Given the description of an element on the screen output the (x, y) to click on. 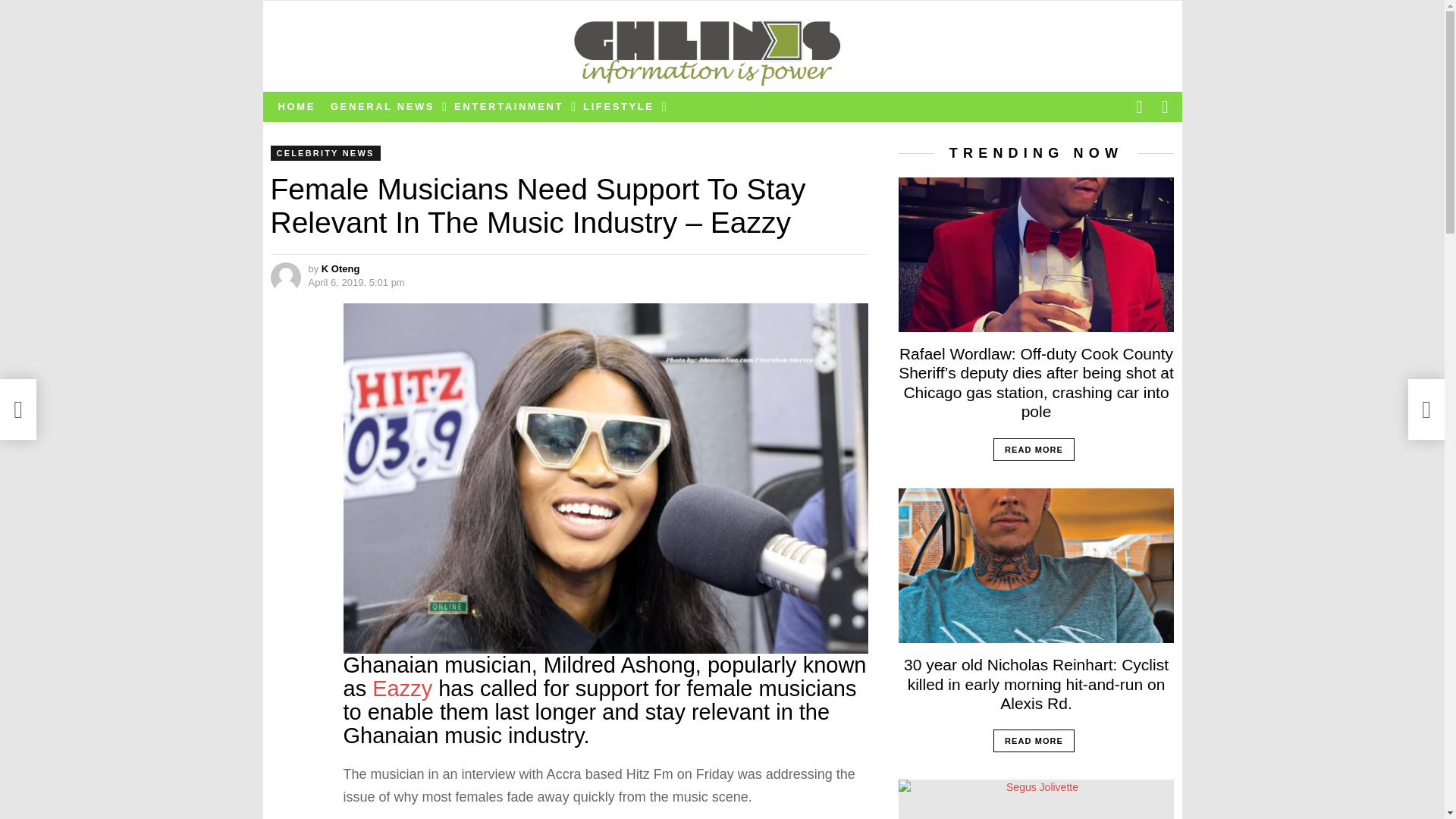
K Oteng (340, 268)
CELEBRITY NEWS (324, 152)
ENTERTAINMENT (510, 106)
Posts by K Oteng (340, 268)
GENERAL NEWS (384, 106)
Eazzy (402, 688)
HOME (295, 106)
LIFESTYLE (620, 106)
